Given the description of an element on the screen output the (x, y) to click on. 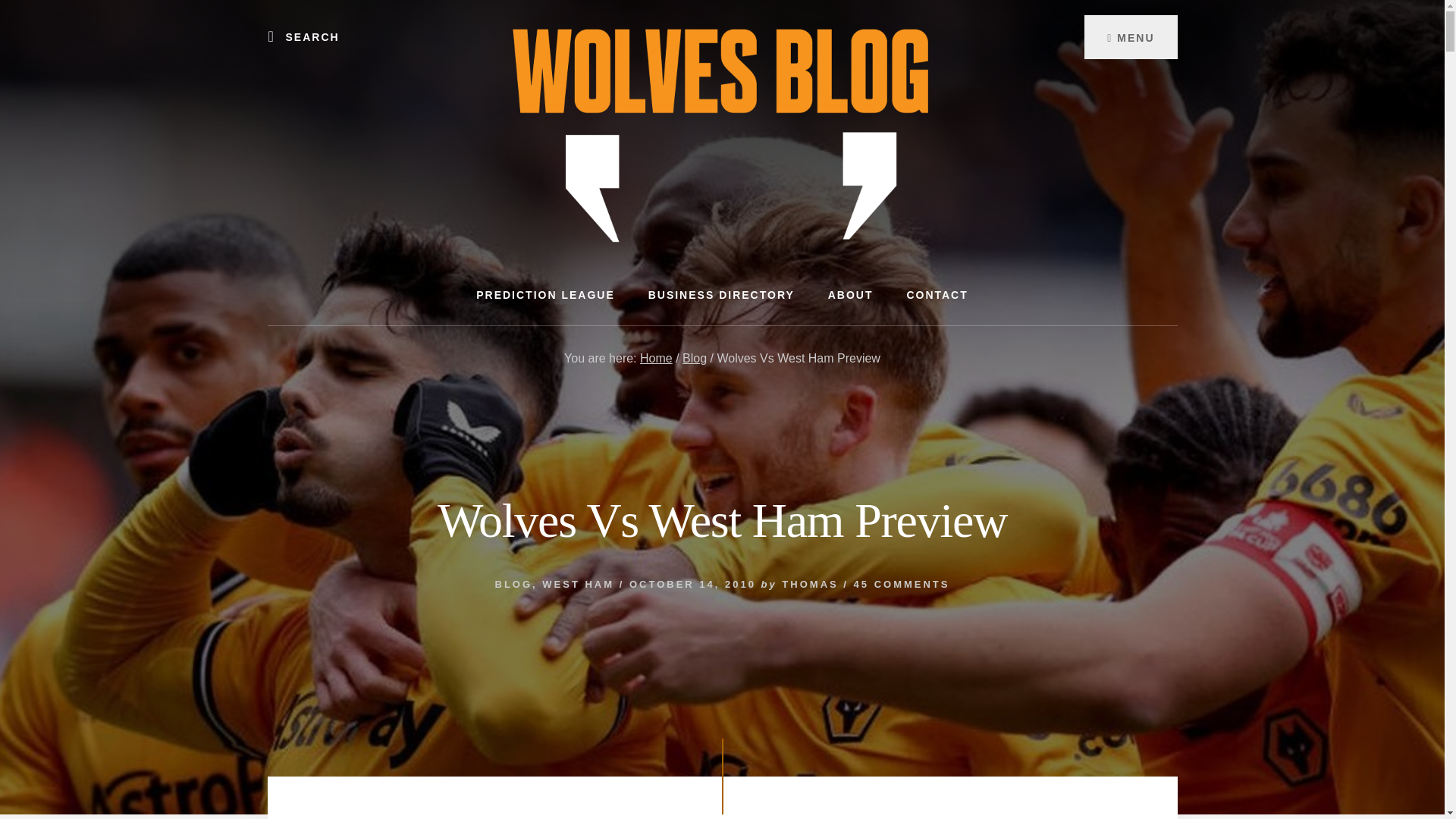
CONTACT (936, 295)
WEST HAM (577, 583)
THOMAS (809, 583)
45 COMMENTS (901, 583)
PREDICTION LEAGUE (545, 295)
MENU (1130, 36)
BUSINESS DIRECTORY (721, 295)
Home (656, 358)
ABOUT (850, 295)
Blog (694, 358)
BLOG (513, 583)
